Given the description of an element on the screen output the (x, y) to click on. 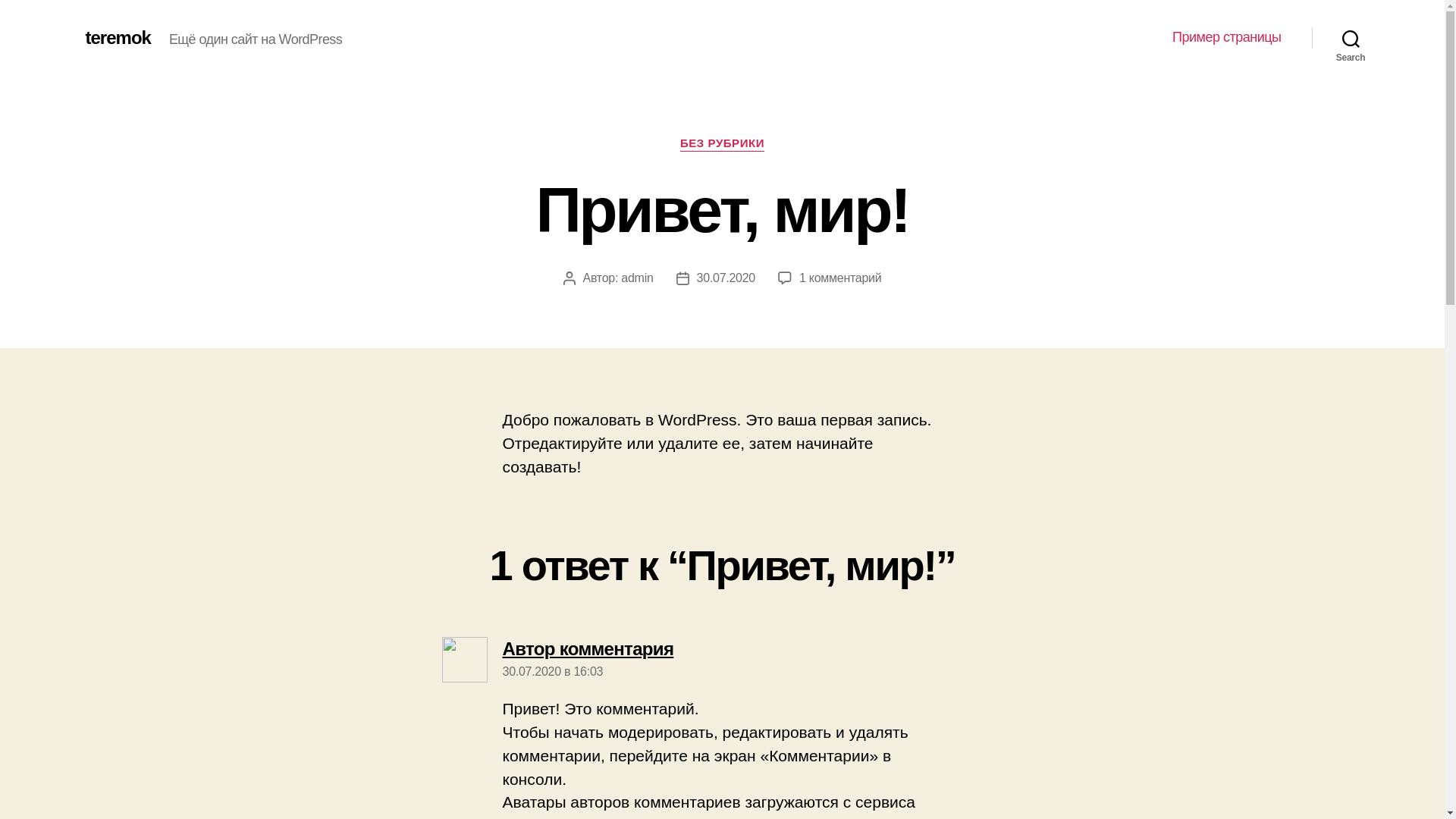
Search Element type: text (1350, 37)
teremok Element type: text (117, 37)
admin Element type: text (636, 277)
30.07.2020 Element type: text (725, 277)
